Given the description of an element on the screen output the (x, y) to click on. 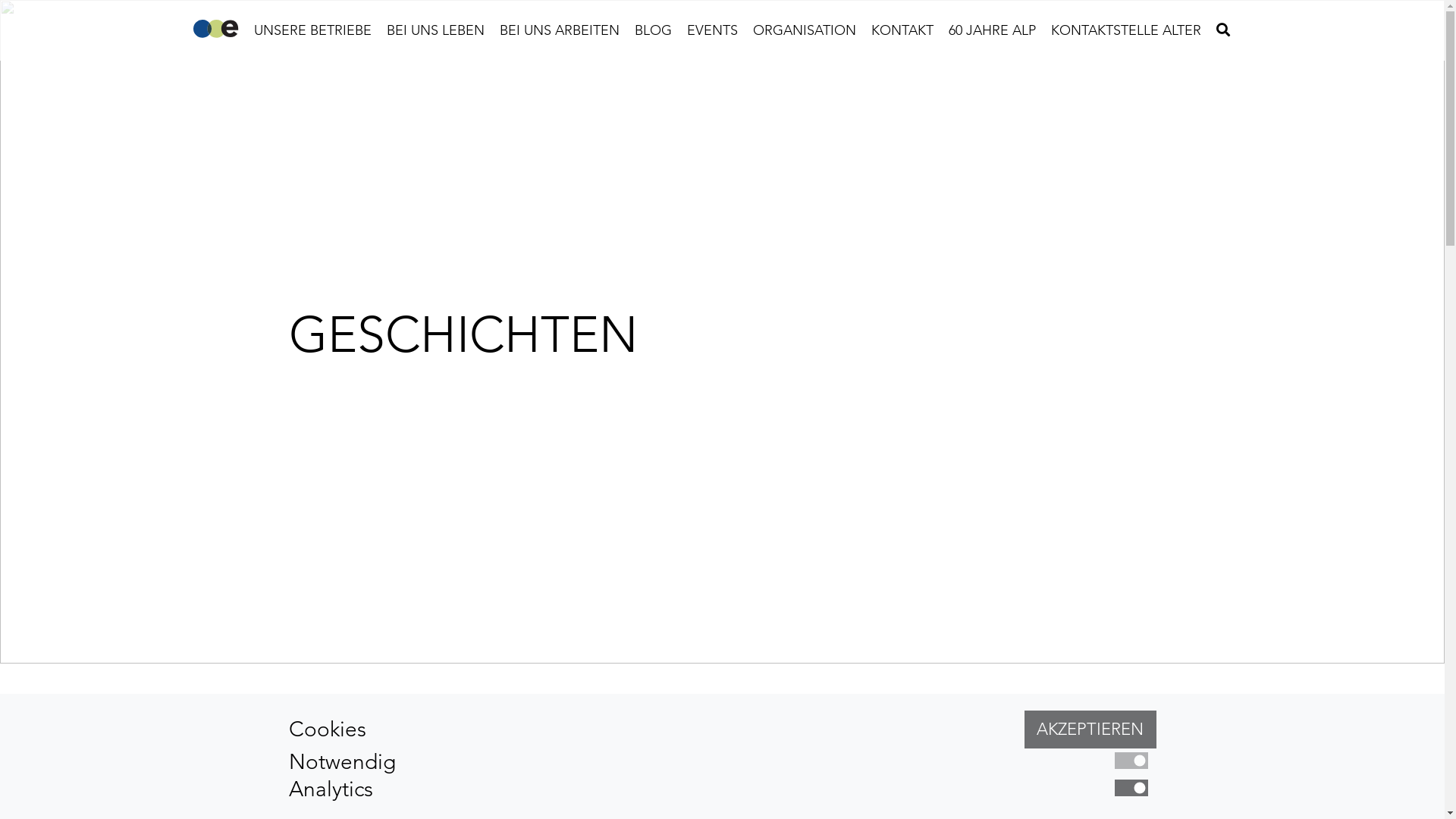
BLOG Element type: text (652, 29)
BEI UNS LEBEN Element type: text (435, 29)
KONTAKTSTELLE ALTER Element type: text (1126, 29)
EVENTS Element type: text (712, 29)
UNSERE BETRIEBE Element type: text (311, 29)
AKZEPTIEREN Element type: text (1089, 729)
60 JAHRE ALP Element type: text (991, 29)
KONTAKT Element type: text (901, 29)
BEI UNS ARBEITEN Element type: text (558, 29)
ORGANISATION Element type: text (803, 29)
